Given the description of an element on the screen output the (x, y) to click on. 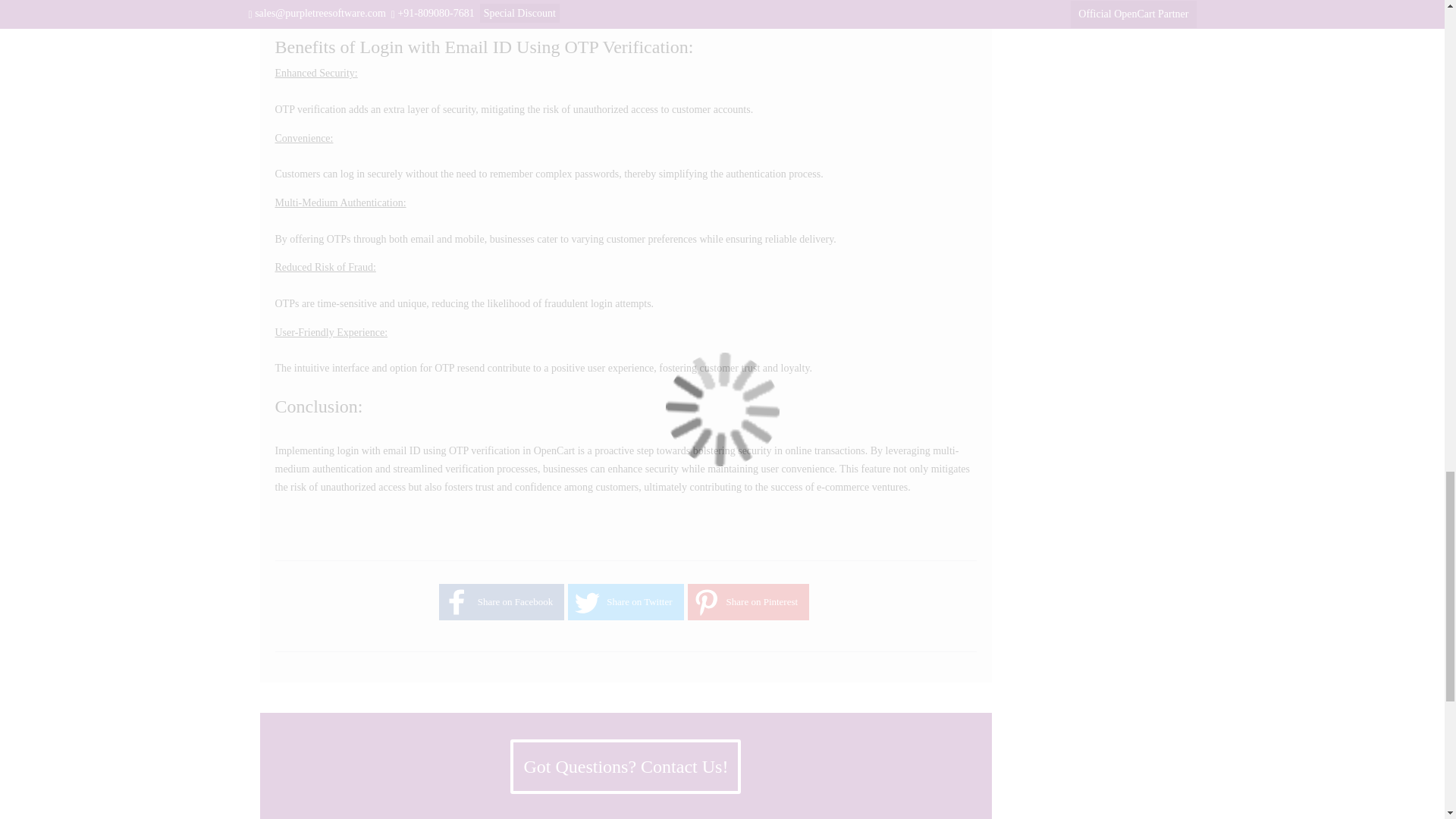
Share on Facebook (457, 601)
Share on Facebook (457, 601)
Share on Pinterest (705, 601)
Got Questions? Contact Us! (626, 766)
Share on Twitter (585, 601)
Share on Twitter (585, 601)
Share on Pinterest (705, 601)
